Given the description of an element on the screen output the (x, y) to click on. 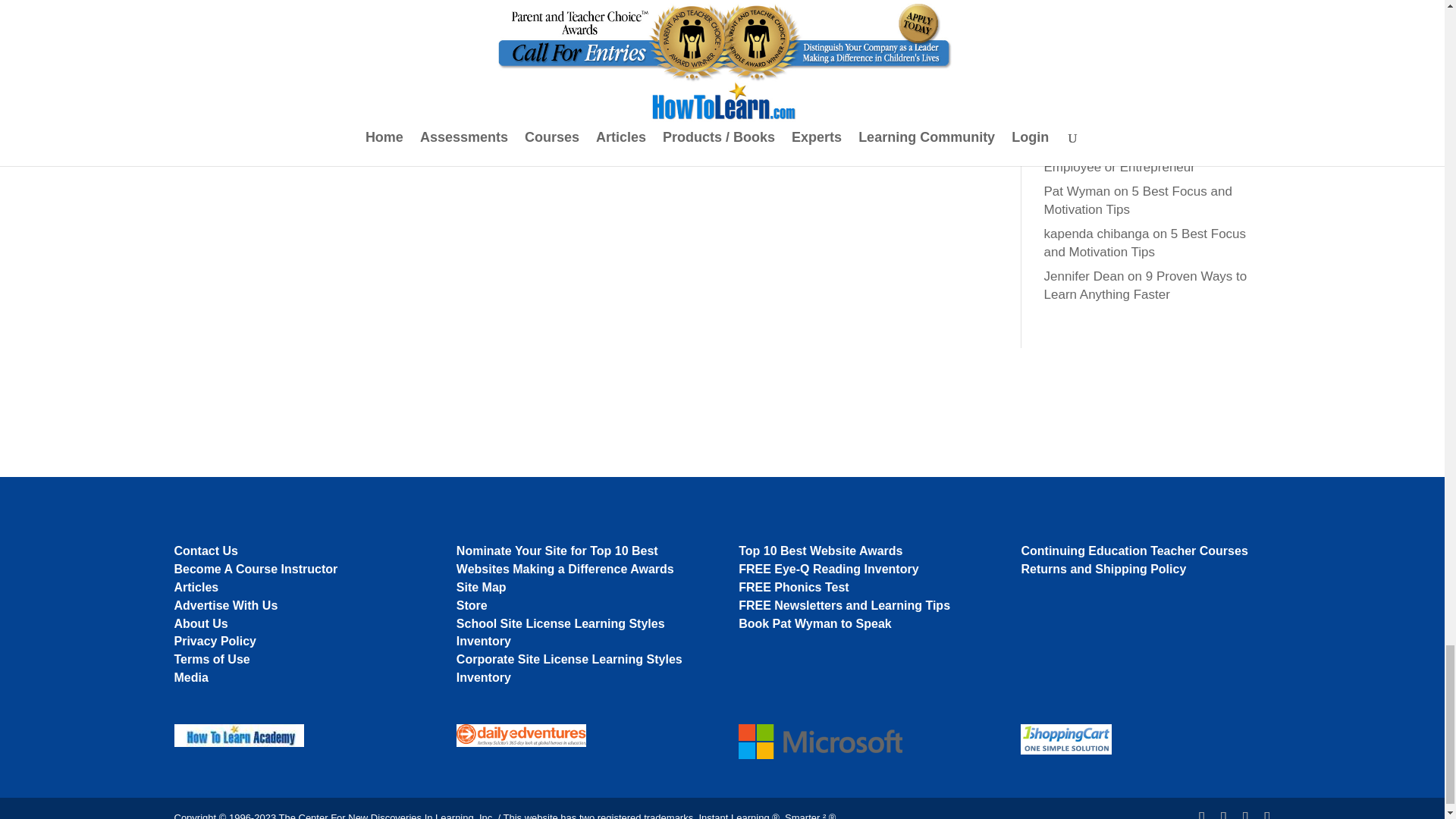
How to Teach Spelling Using Phonics (1138, 115)
How to Tell If You Are an Employee or Entrepreneur (1146, 157)
27 Education Storybook Activities to Improve Literacy (1146, 25)
